Given the description of an element on the screen output the (x, y) to click on. 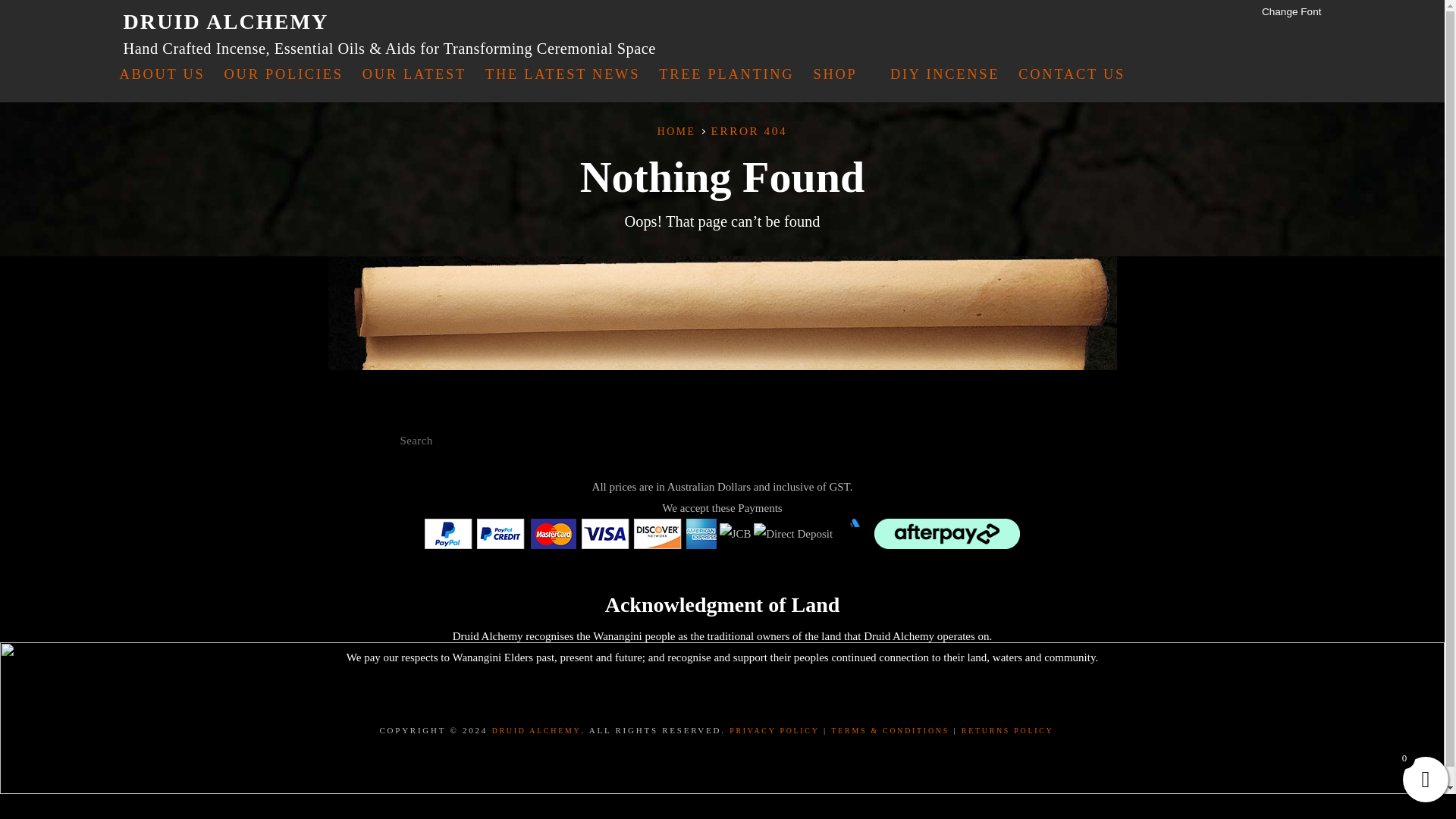
ABOUT US (162, 74)
RETURNS POLICY (1007, 730)
DRUID ALCHEMY (536, 730)
OUR POLICIES (283, 74)
CONTACT US (1071, 74)
Afterpay (947, 533)
DRUID ALCHEMY (225, 21)
Cheque (852, 533)
SHOP (841, 74)
DIY INCENSE (944, 74)
Search (1038, 440)
THE LATEST NEWS (562, 74)
Direct Deposit (793, 533)
PRIVACY POLICY (773, 730)
